Given the description of an element on the screen output the (x, y) to click on. 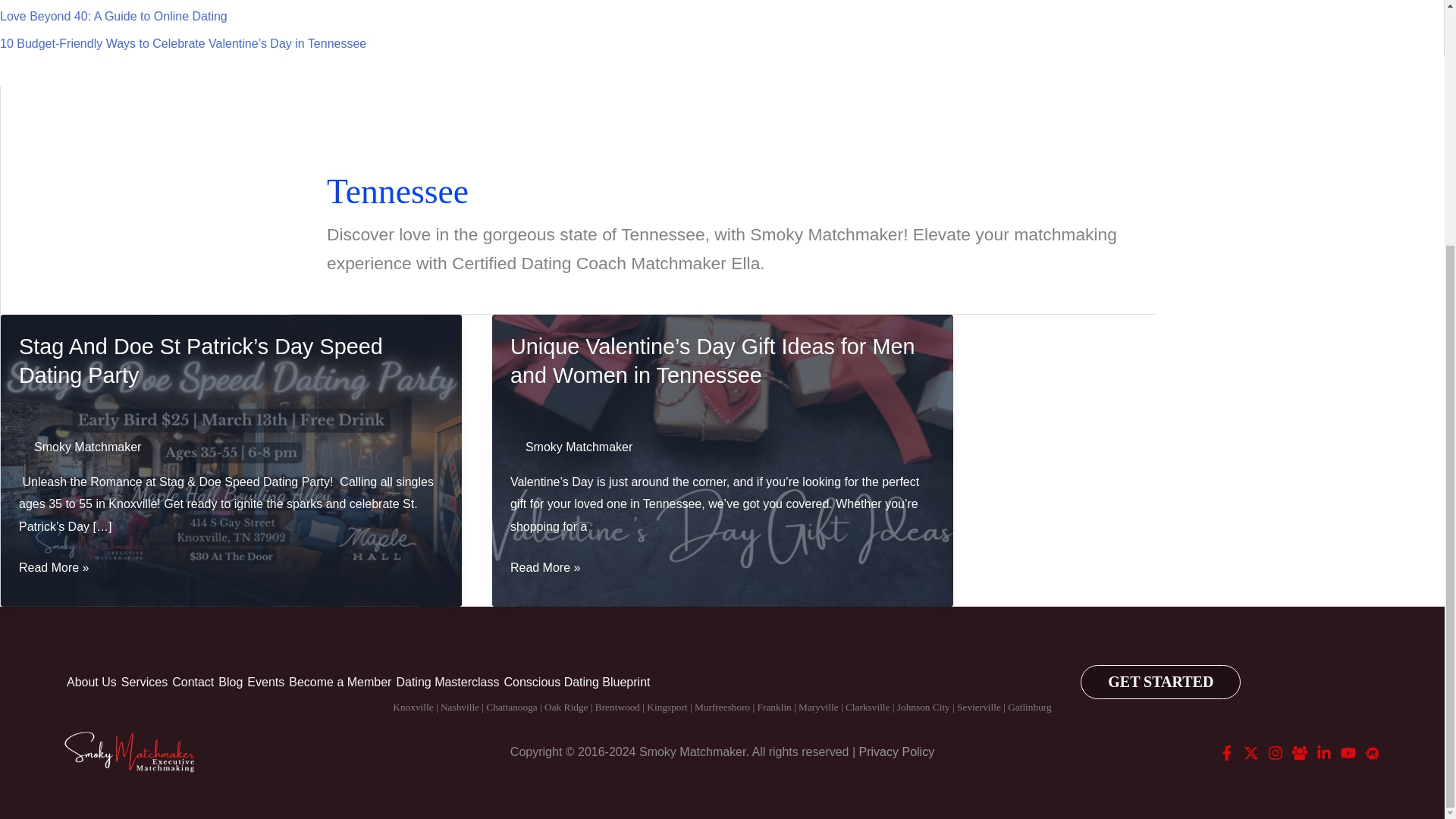
Services (144, 682)
Blog (229, 682)
Events (265, 682)
Smoky Matchmaker (87, 446)
View all posts by Smoky Matchmaker (578, 446)
Contact (192, 682)
About Us (91, 682)
Become a Member (339, 682)
Smoky Matchmaker (578, 446)
View all posts by Smoky Matchmaker (87, 446)
